Given the description of an element on the screen output the (x, y) to click on. 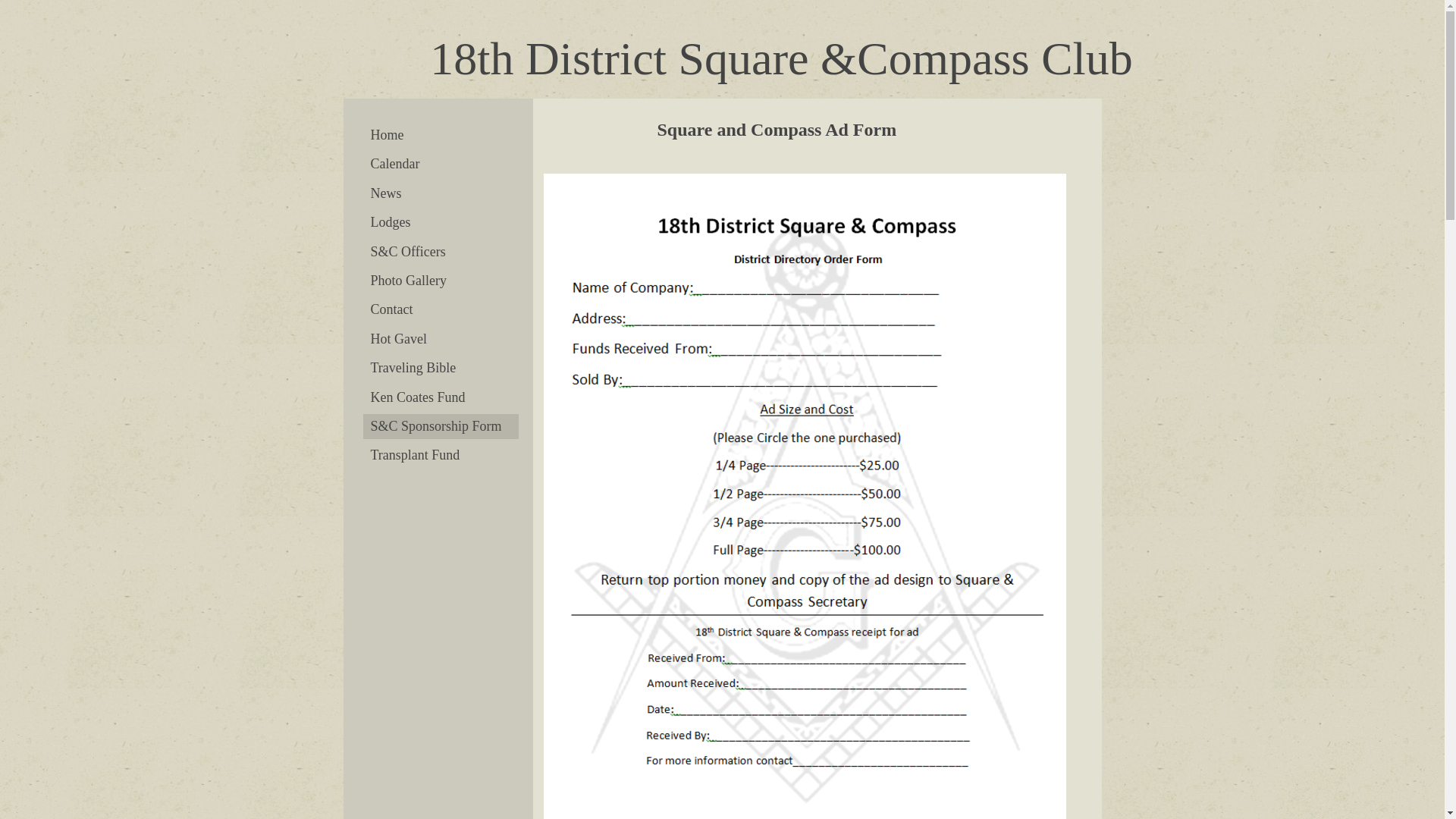
Transplant Fund Element type: text (439, 454)
Lodges Element type: text (439, 222)
S&C Sponsorship Form Element type: text (439, 426)
Calendar Element type: text (439, 163)
Home Element type: text (439, 134)
Contact Element type: text (439, 309)
Hot Gavel Element type: text (439, 338)
Ken Coates Fund Element type: text (439, 397)
Photo Gallery Element type: text (439, 280)
News Element type: text (439, 193)
S&C Officers Element type: text (439, 251)
Traveling Bible Element type: text (439, 367)
